Given the description of an element on the screen output the (x, y) to click on. 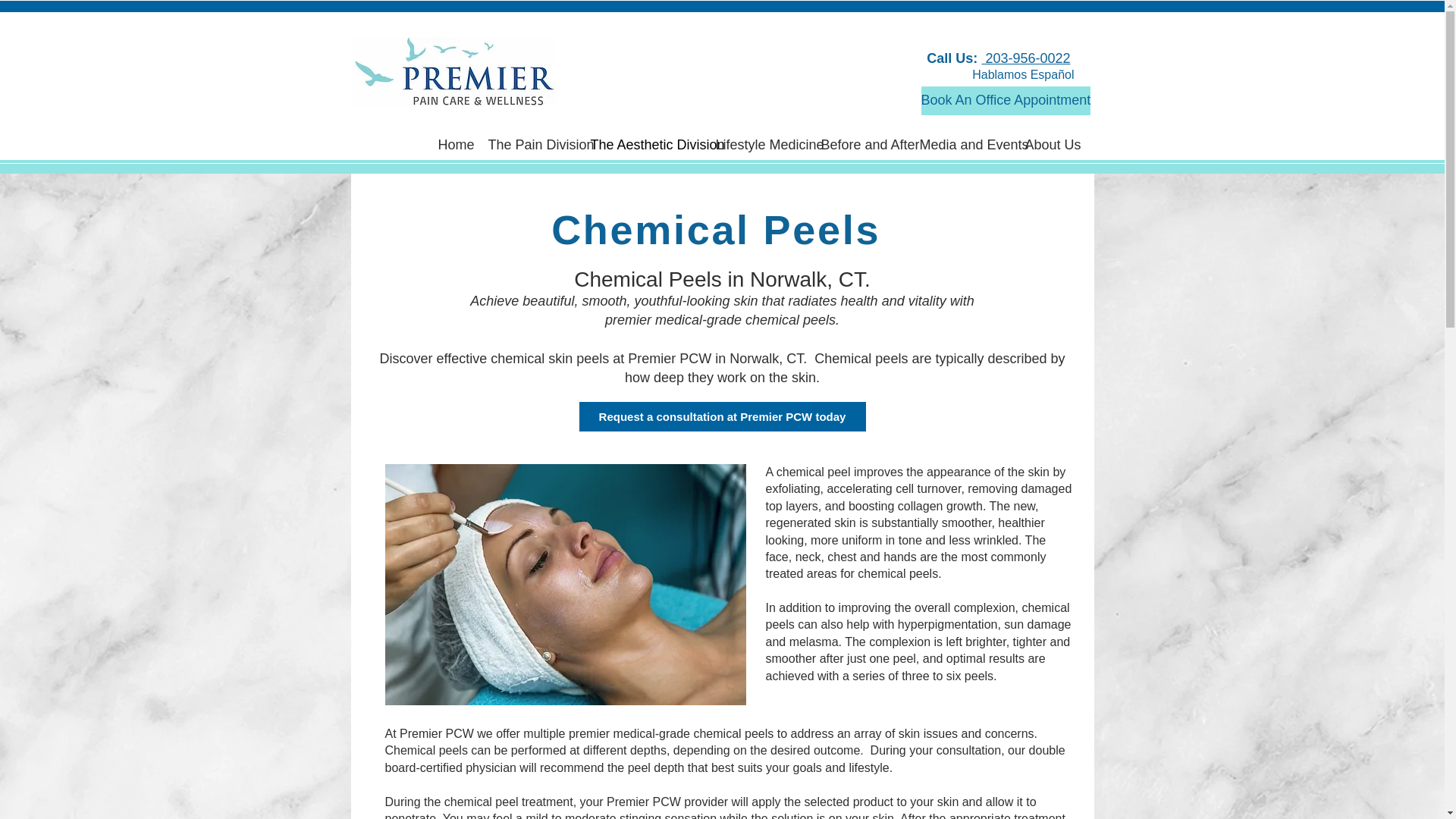
About Us (1045, 144)
Request a consultation at Premier PCW today (722, 416)
Lifestyle Medicine (756, 144)
Home (451, 144)
Book An Office Appointment (1005, 100)
The Pain Division (527, 144)
203-956-0022 (1025, 58)
Before and After (858, 144)
Media and Events (960, 144)
The Aesthetic Division (641, 144)
